Given the description of an element on the screen output the (x, y) to click on. 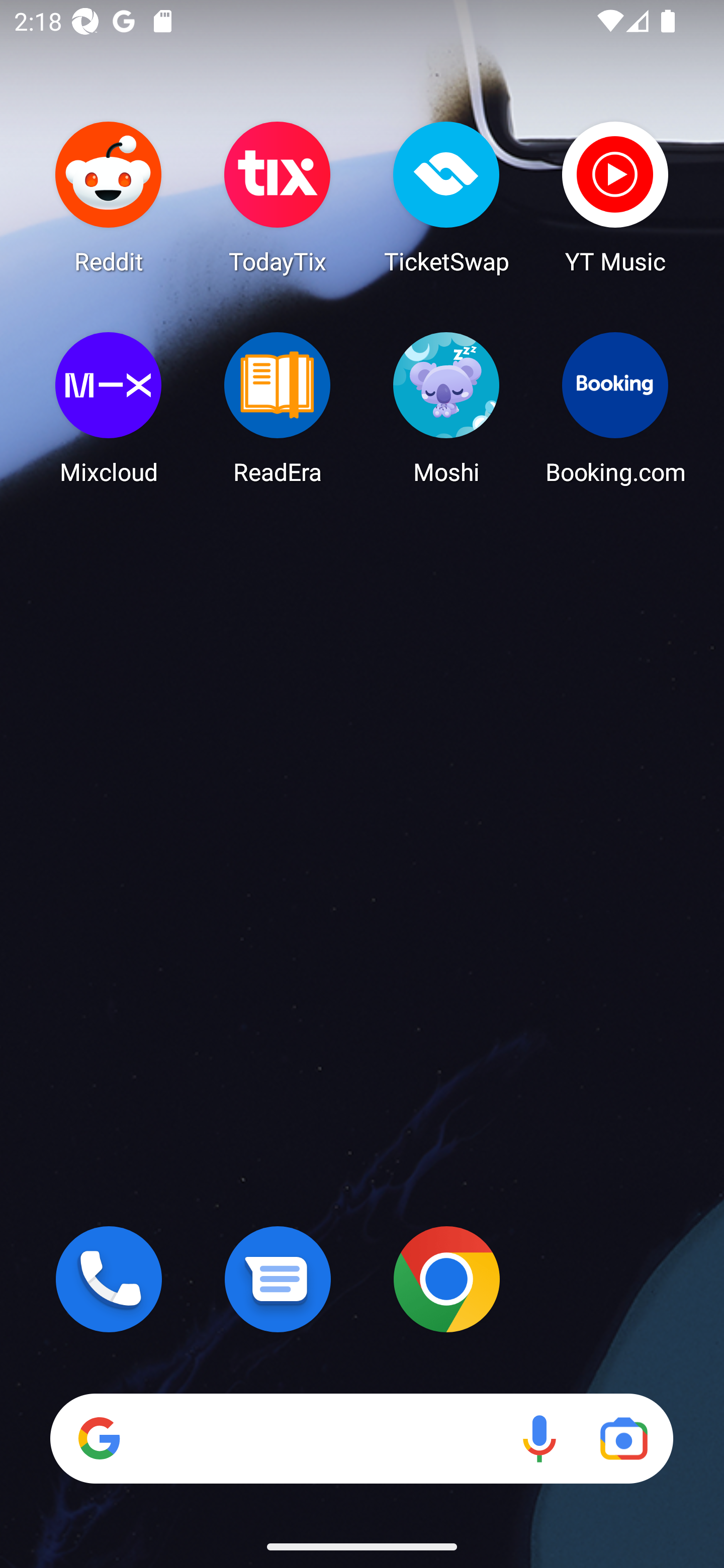
Reddit (108, 196)
TodayTix (277, 196)
TicketSwap (445, 196)
YT Music (615, 196)
Mixcloud (108, 407)
ReadEra (277, 407)
Moshi (445, 407)
Booking.com (615, 407)
Phone (108, 1279)
Messages (277, 1279)
Chrome (446, 1279)
Search Voice search Google Lens (361, 1438)
Voice search (539, 1438)
Google Lens (623, 1438)
